Given the description of an element on the screen output the (x, y) to click on. 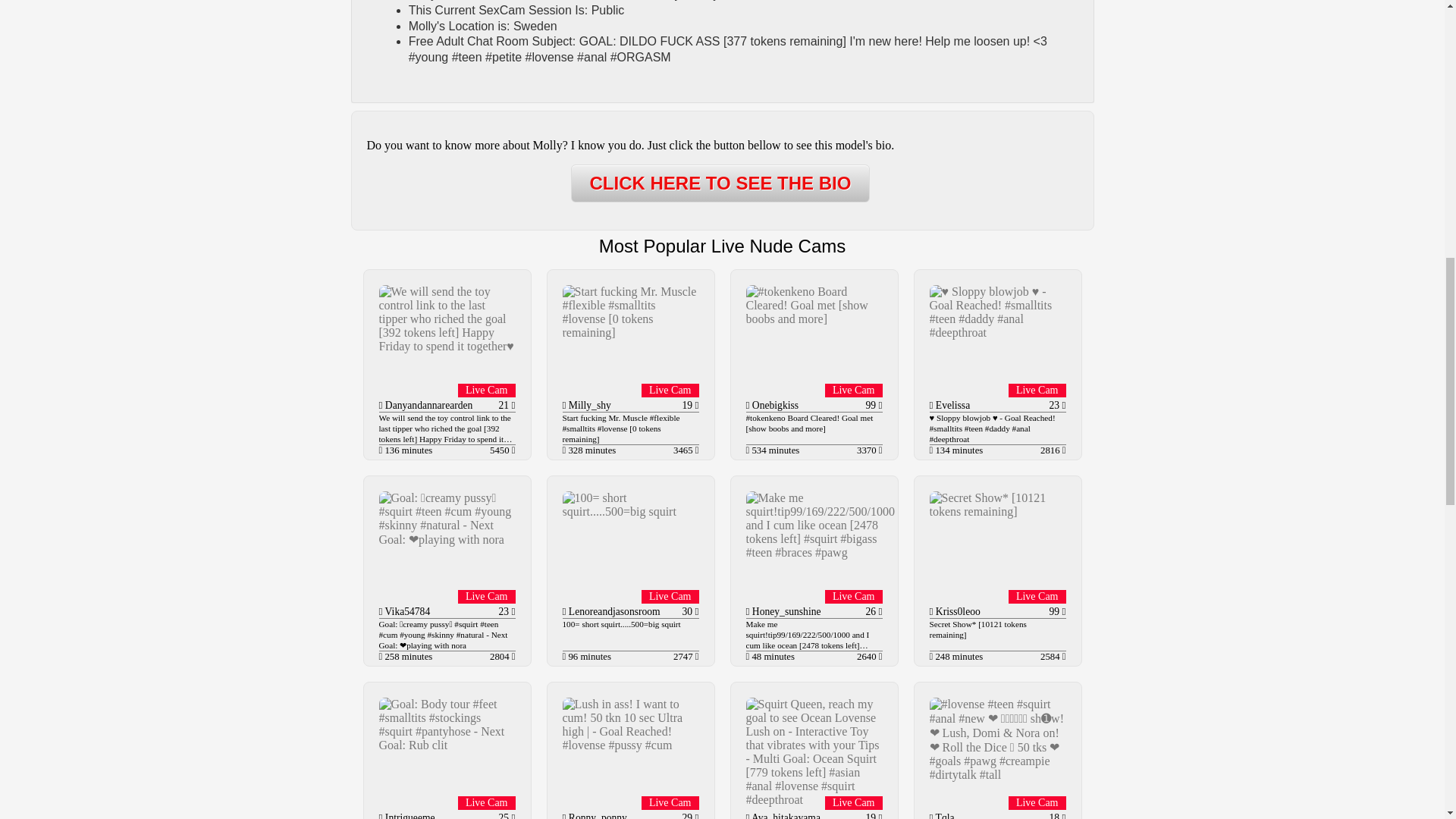
Couple (380, 405)
Time online (747, 450)
Vika54784 (405, 611)
Evelissa (951, 405)
Onebigkiss (773, 405)
Danyandannarearden (426, 405)
Time online (380, 450)
Tqla (943, 815)
Female (564, 405)
Lenoreandjasonsroom (612, 611)
